Given the description of an element on the screen output the (x, y) to click on. 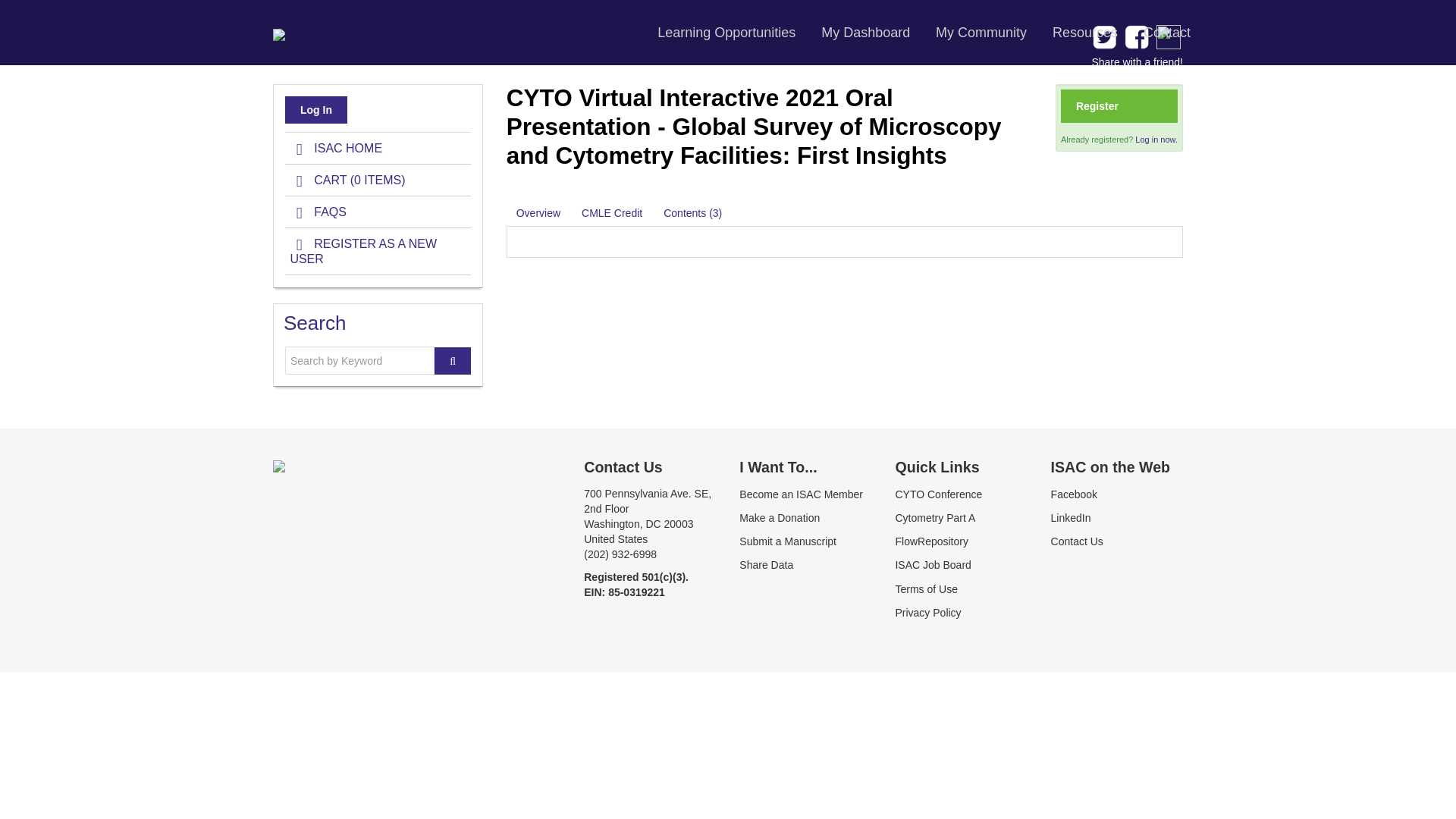
REGISTER AS A NEW USER (377, 251)
Become an ISAC Member (801, 494)
ISAC HOME (377, 148)
My Community (981, 32)
Submit a Manuscript (787, 541)
Learning Opportunities (726, 32)
Make a Donation (779, 517)
Log in now. (1156, 139)
Contact (1167, 32)
Log In (316, 109)
